Given the description of an element on the screen output the (x, y) to click on. 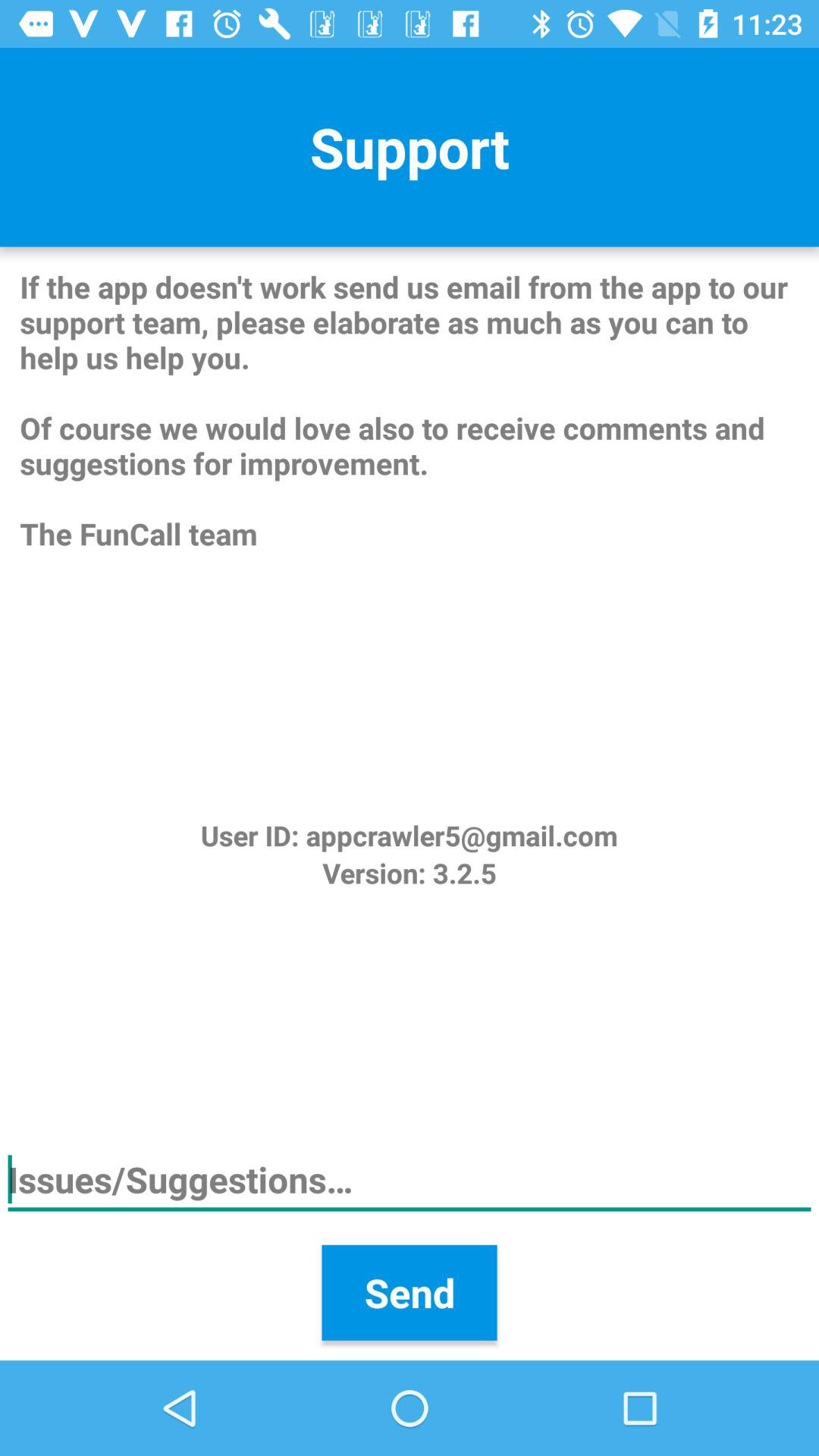
tap item below the if the app item (408, 835)
